Given the description of an element on the screen output the (x, y) to click on. 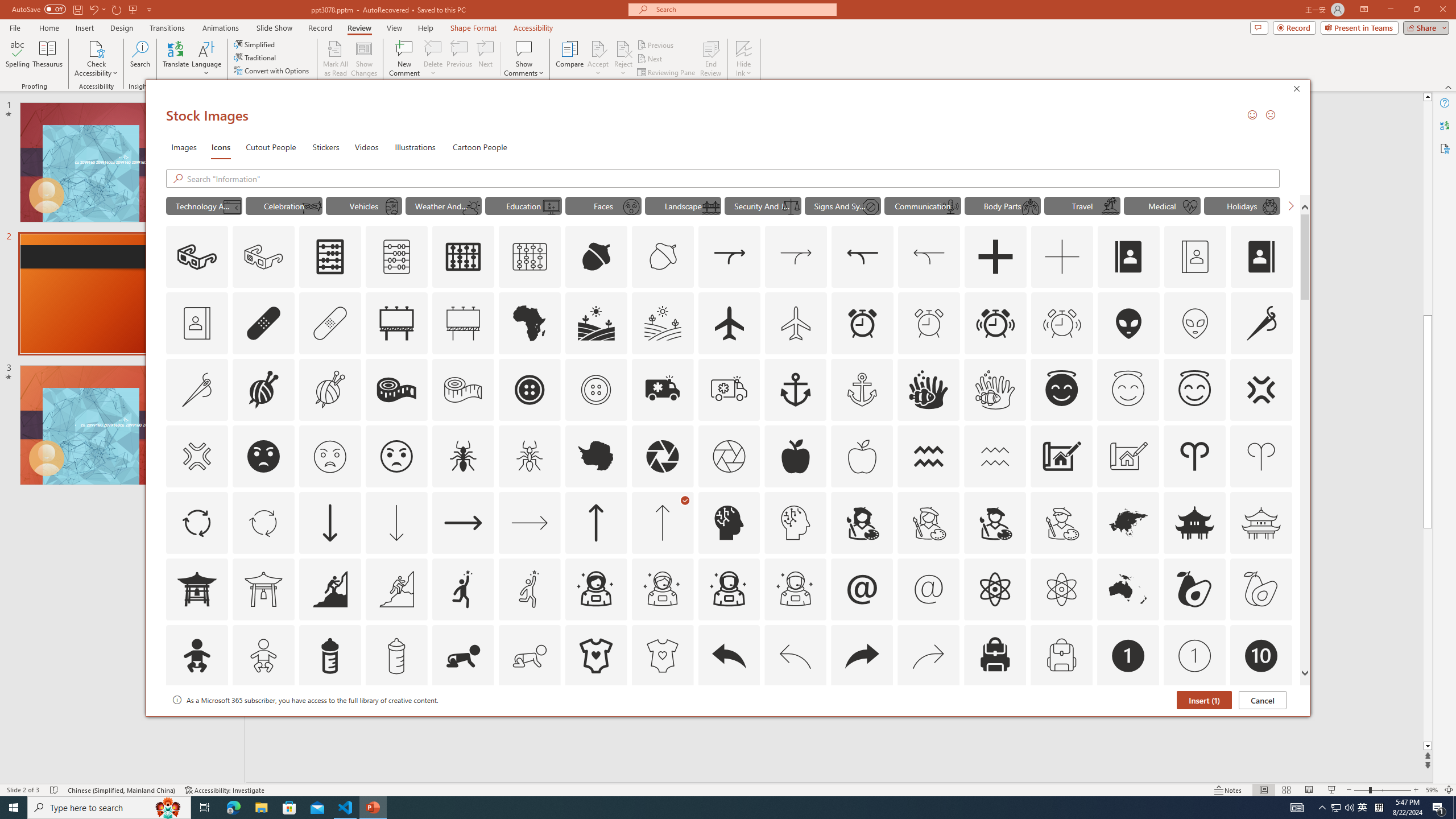
AutomationID: Icons_Baby_M (263, 655)
AutomationID: Icons_ArrowRight (462, 522)
AutomationID: Icons_WreathHoliday_M (1269, 206)
Images (183, 146)
AutomationID: Icons_PartialSun_M (471, 206)
AutomationID: Icons_BabyBottle_M (395, 655)
AutomationID: Icons_Badge5 (662, 721)
AutomationID: Icons_PartyMask_M (311, 206)
